Given the description of an element on the screen output the (x, y) to click on. 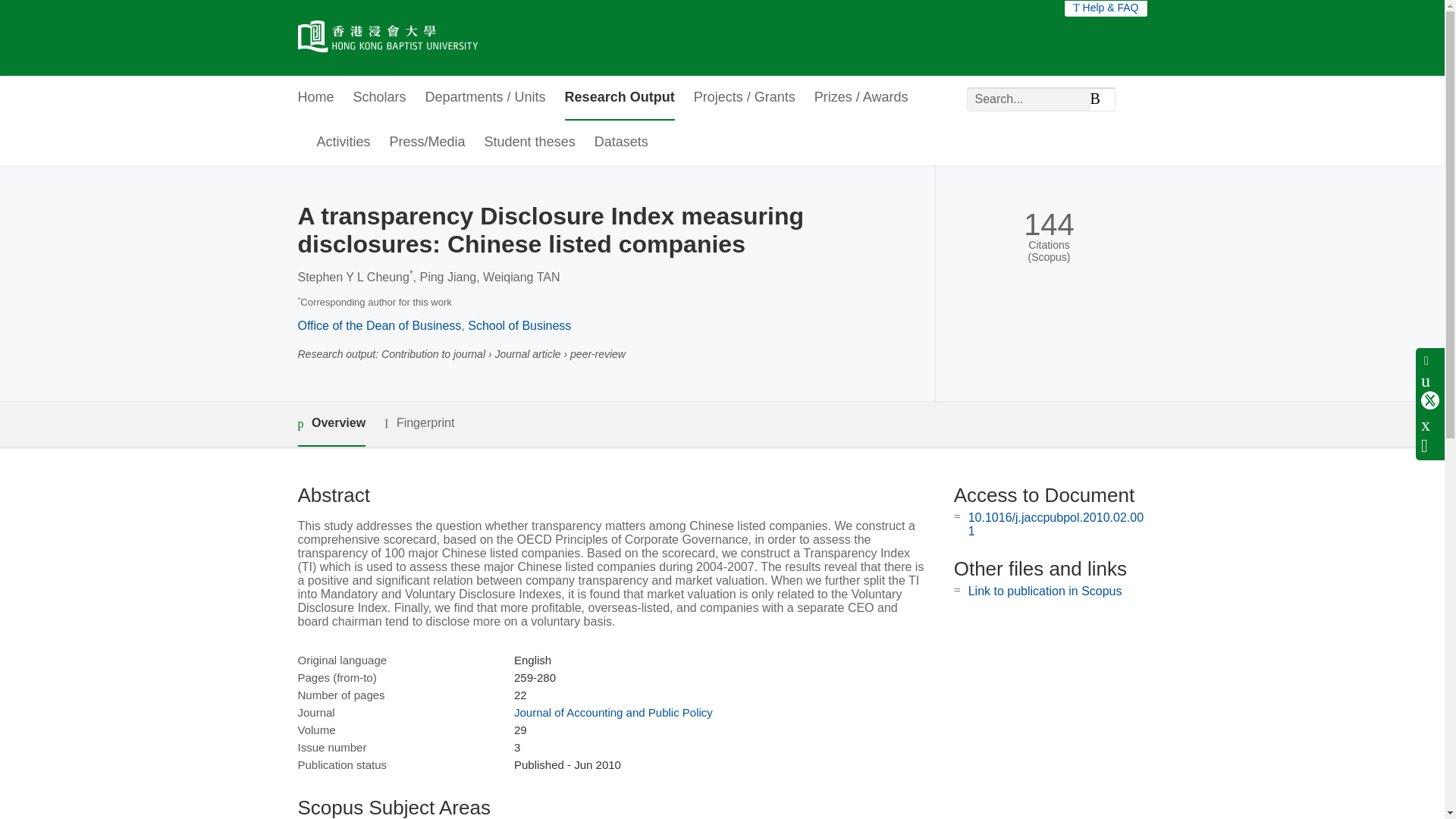
Home (315, 98)
Journal of Accounting and Public Policy (613, 712)
Fingerprint (419, 423)
Student theses (529, 142)
Research Output (619, 98)
Scholars (379, 98)
Hong Kong Baptist University Home (387, 37)
Datasets (620, 142)
Overview (331, 424)
School of Business (518, 325)
Office of the Dean of Business (379, 325)
Link to publication in Scopus (1045, 590)
Activities (344, 142)
